Given the description of an element on the screen output the (x, y) to click on. 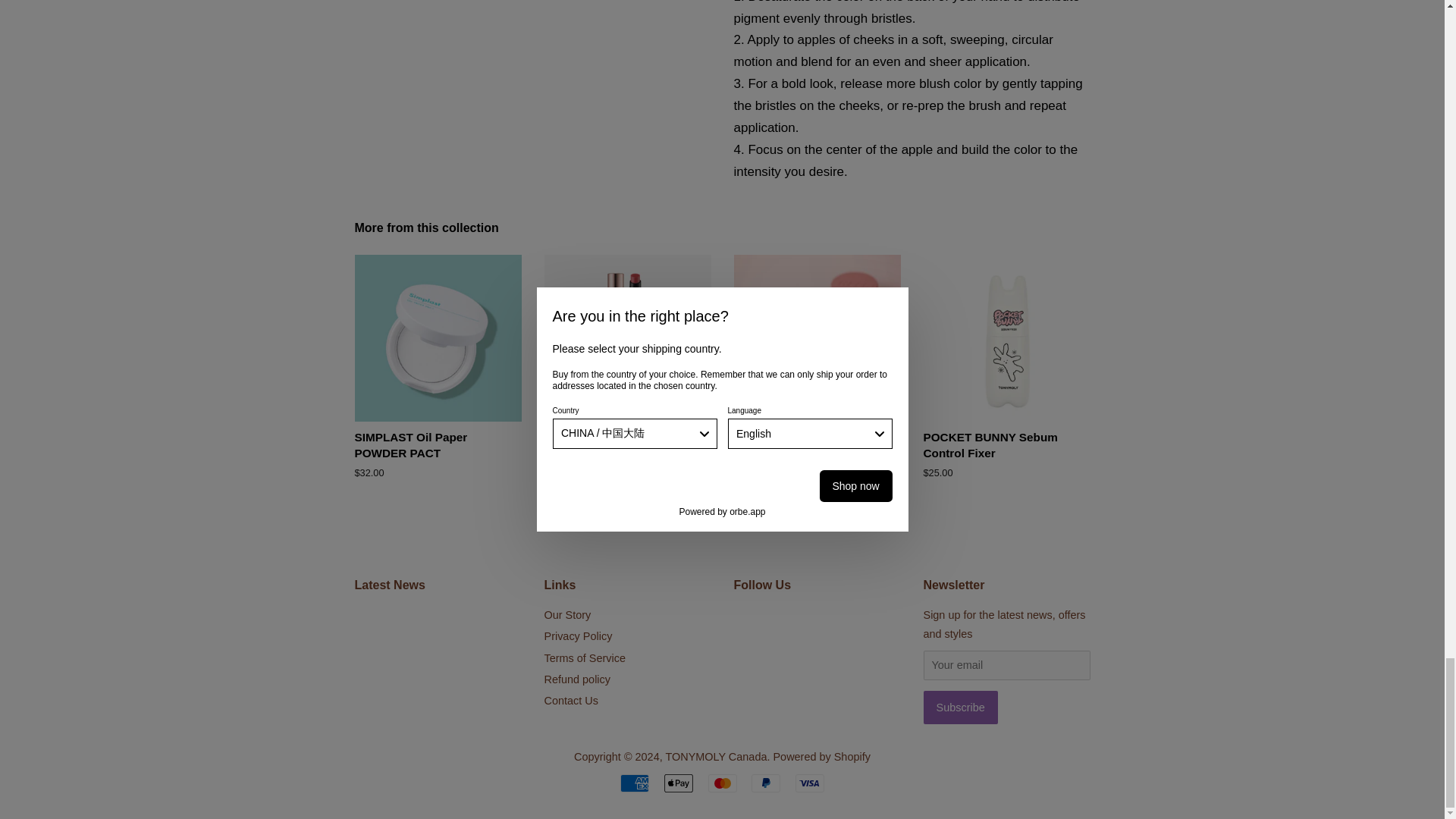
Apple Pay (678, 782)
American Express (634, 782)
Visa (809, 782)
PayPal (765, 782)
Mastercard (721, 782)
Subscribe (960, 707)
